Given the description of an element on the screen output the (x, y) to click on. 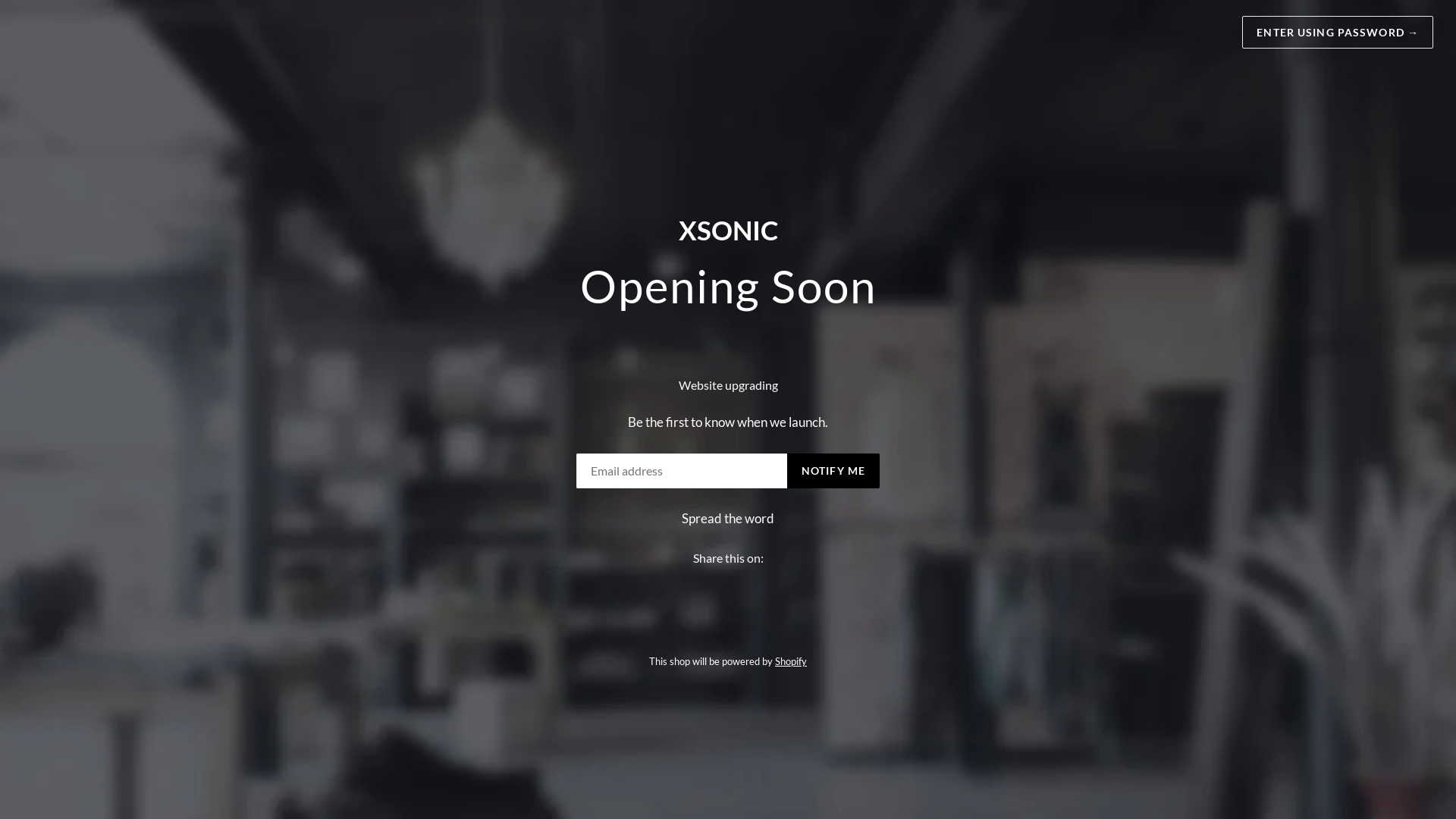
Shopify Element type: text (790, 661)
NOTIFY ME Element type: text (833, 470)
